Given the description of an element on the screen output the (x, y) to click on. 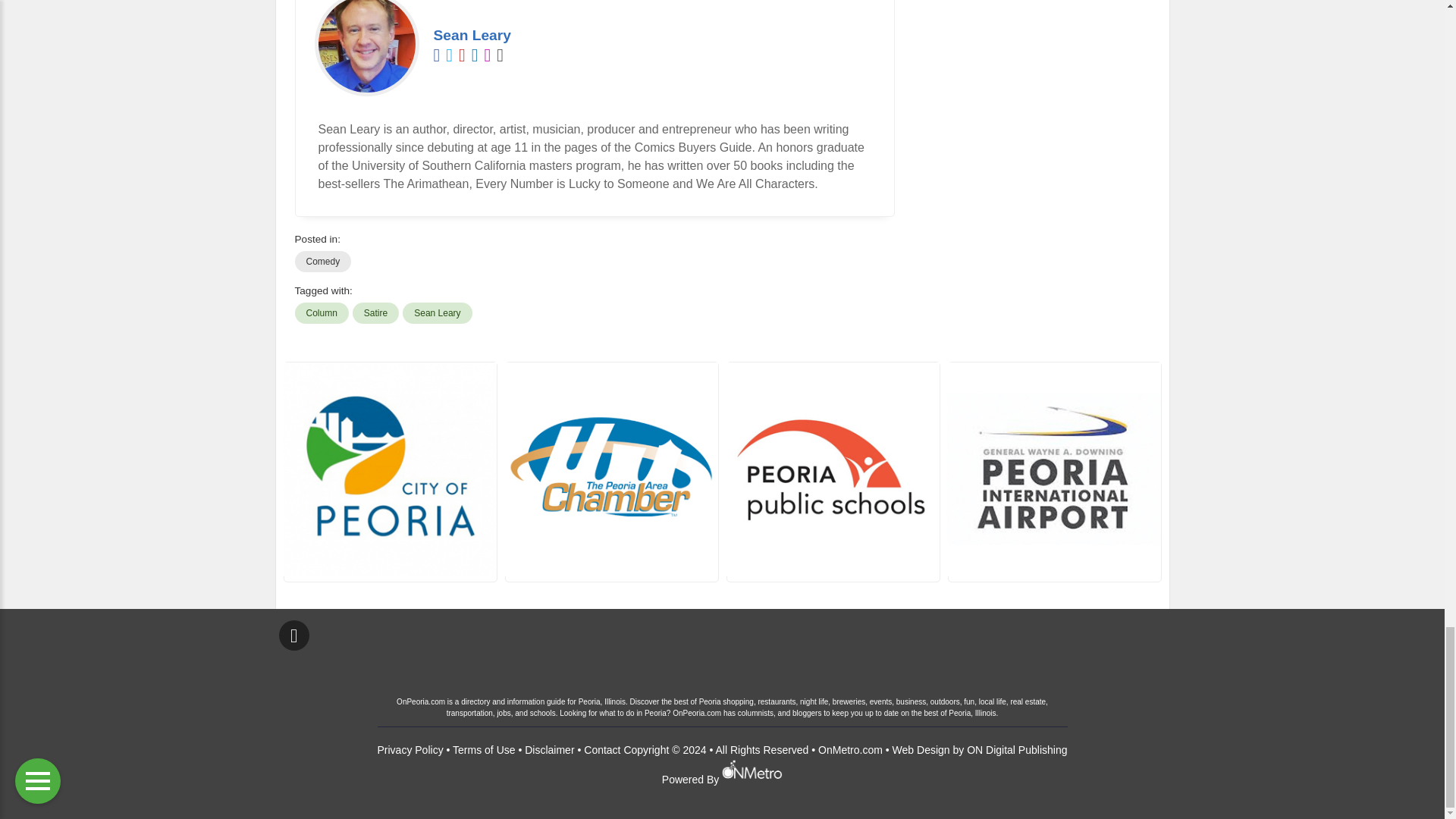
Facebook (293, 634)
